Given the description of an element on the screen output the (x, y) to click on. 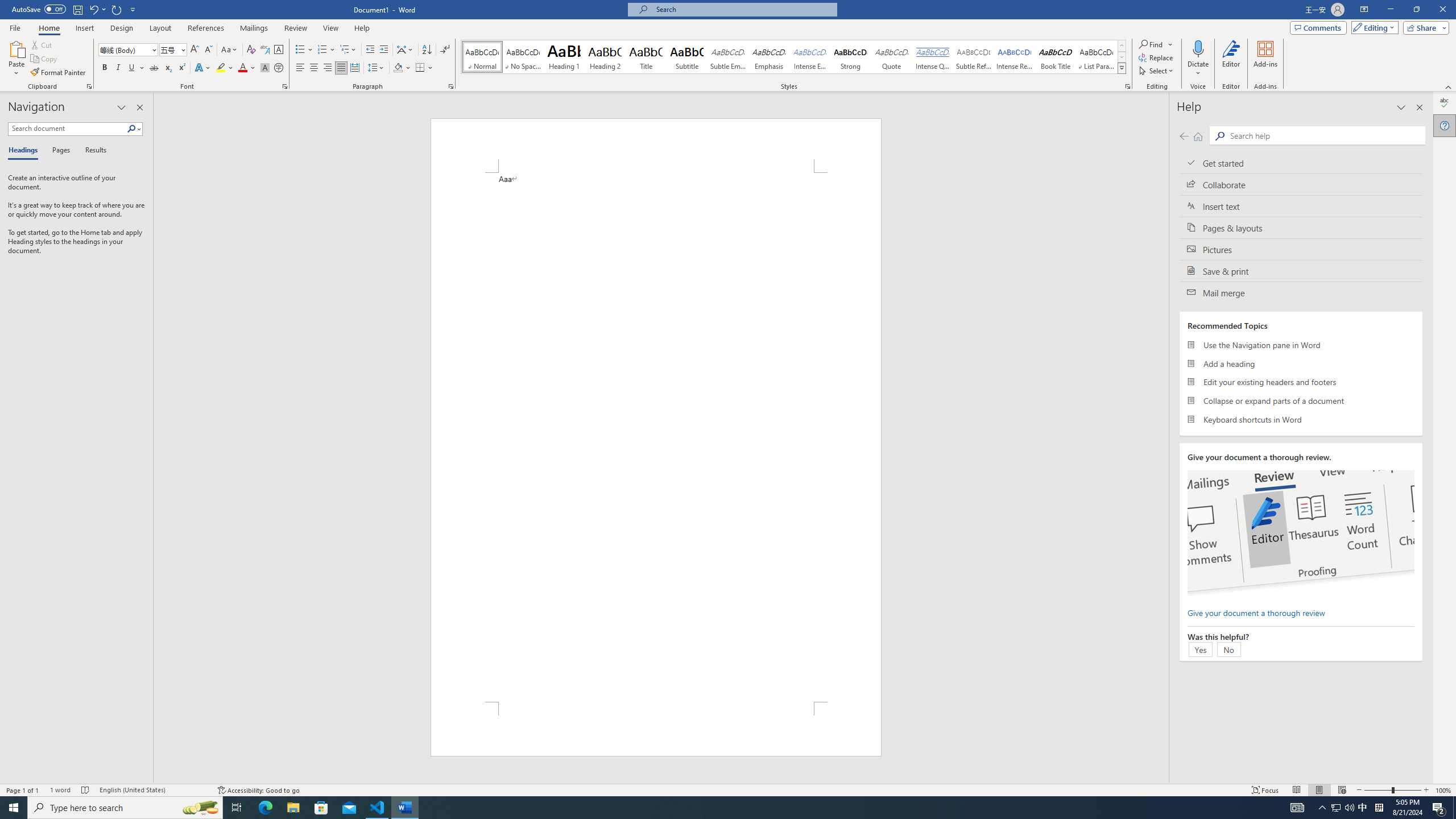
Focus  (1265, 790)
Phonetic Guide... (264, 49)
Open (182, 49)
Task Pane Options (121, 107)
Superscript (180, 67)
Paragraph... (450, 85)
Strong (849, 56)
Layout (160, 28)
Save & print (1300, 270)
Undo AutoCorrect (92, 9)
Paste (16, 48)
Asian Layout (405, 49)
Text Effects and Typography (202, 67)
Text Highlight Color Yellow (220, 67)
Ribbon Display Options (1364, 9)
